Given the description of an element on the screen output the (x, y) to click on. 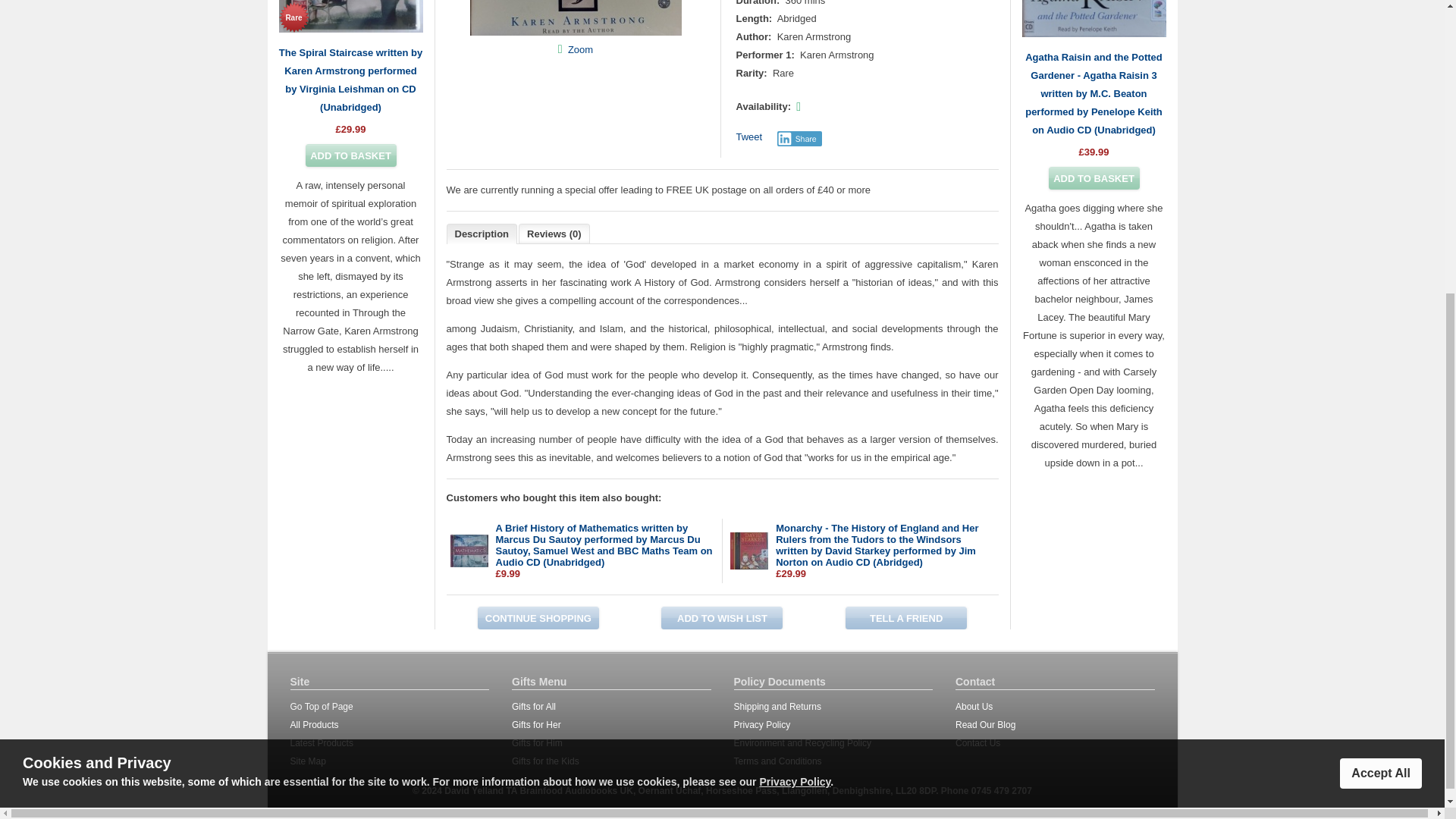
Latest Products (320, 742)
CONTINUE SHOPPING (537, 617)
ADD TO BASKET (350, 155)
ADD TO BASKET (1093, 178)
Tweet (748, 136)
ADD TO WISH LIST (722, 617)
Share (799, 138)
TELL A FRIEND (905, 617)
Zoom (579, 48)
All Products (313, 724)
Site Map (306, 760)
ifts for Him (540, 742)
ifts for Her (539, 724)
Description (481, 233)
Go Top of Page (320, 706)
